Given the description of an element on the screen output the (x, y) to click on. 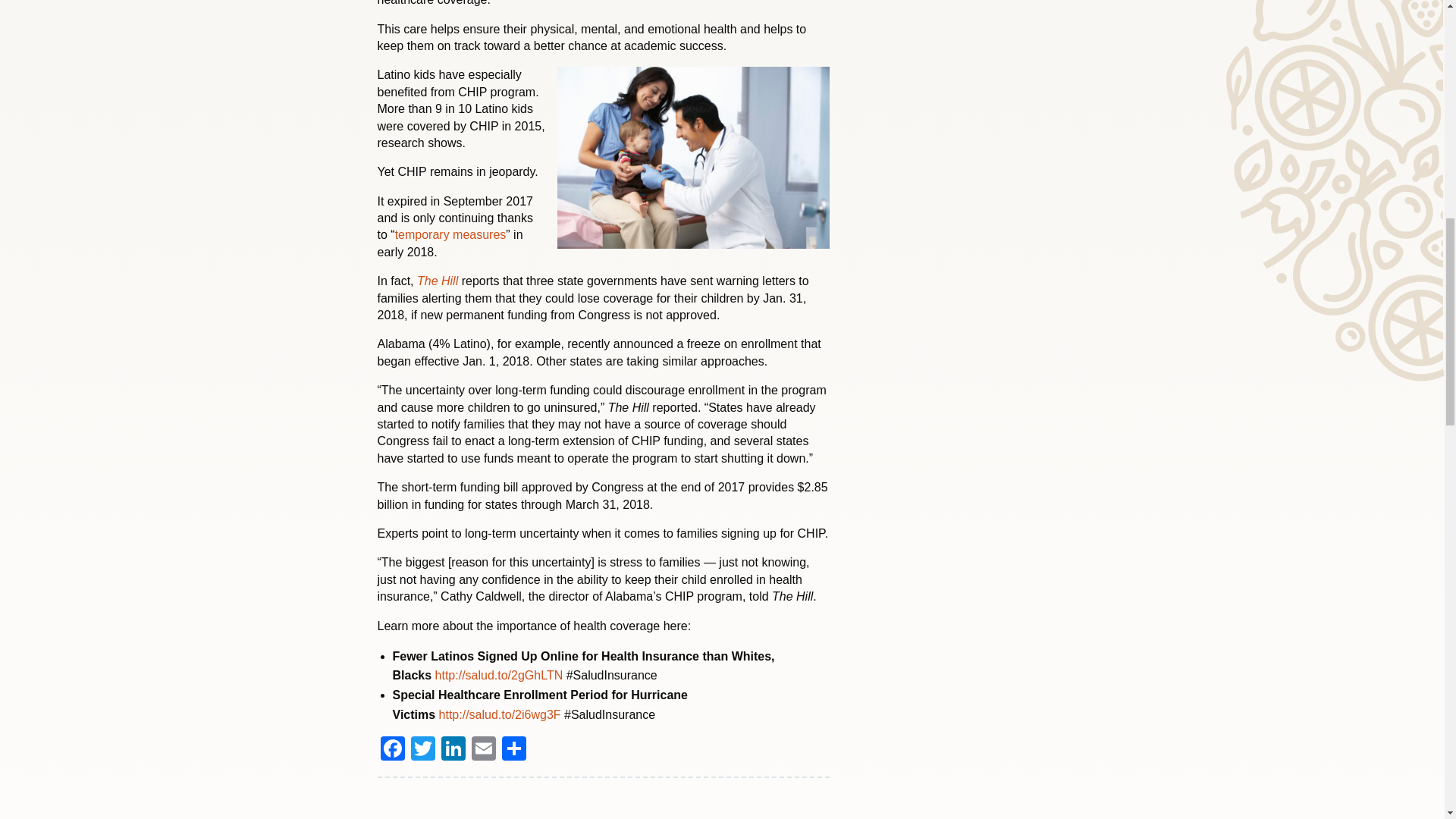
LinkedIn (453, 750)
Twitter (422, 750)
Twitter (422, 750)
temporary measures (450, 234)
The Hill  (438, 280)
Email (483, 750)
Share (514, 750)
LinkedIn (453, 750)
Facebook (392, 750)
Facebook (392, 750)
Email (483, 750)
